Given the description of an element on the screen output the (x, y) to click on. 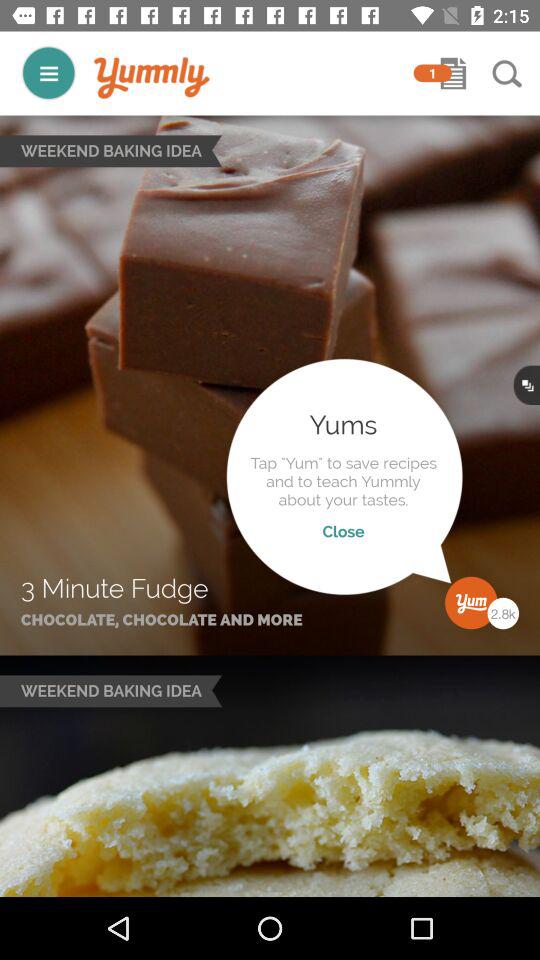
message notification (453, 73)
